Given the description of an element on the screen output the (x, y) to click on. 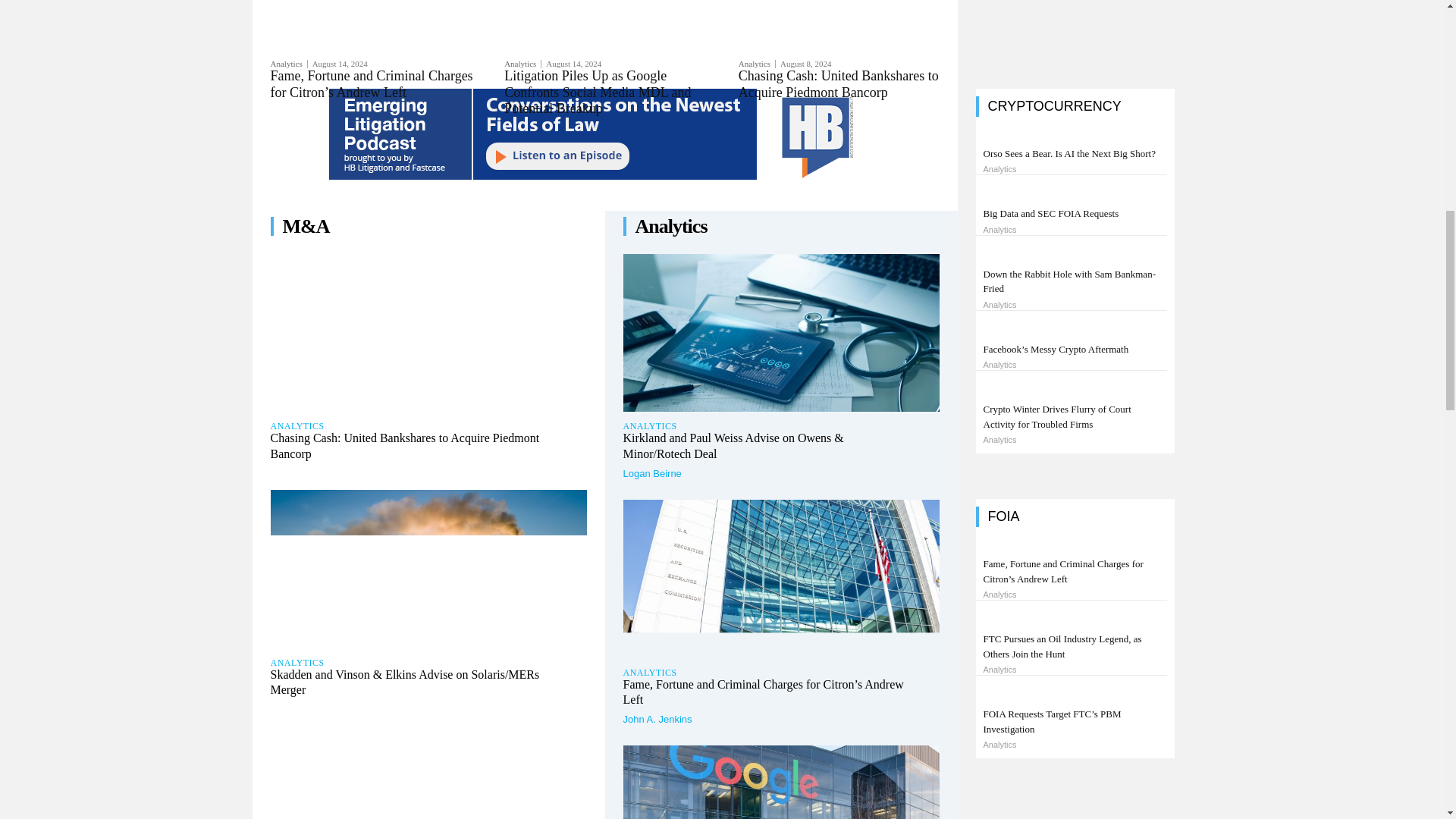
Analytics (288, 63)
Analytics (757, 63)
Chasing Cash: United Bankshares to Acquire Piedmont Bancorp (838, 83)
Analytics (522, 63)
Chasing Cash: United Bankshares to Acquire Piedmont Bancorp (403, 445)
Chasing Cash: United Bankshares to Acquire Piedmont Bancorp (427, 332)
